Given the description of an element on the screen output the (x, y) to click on. 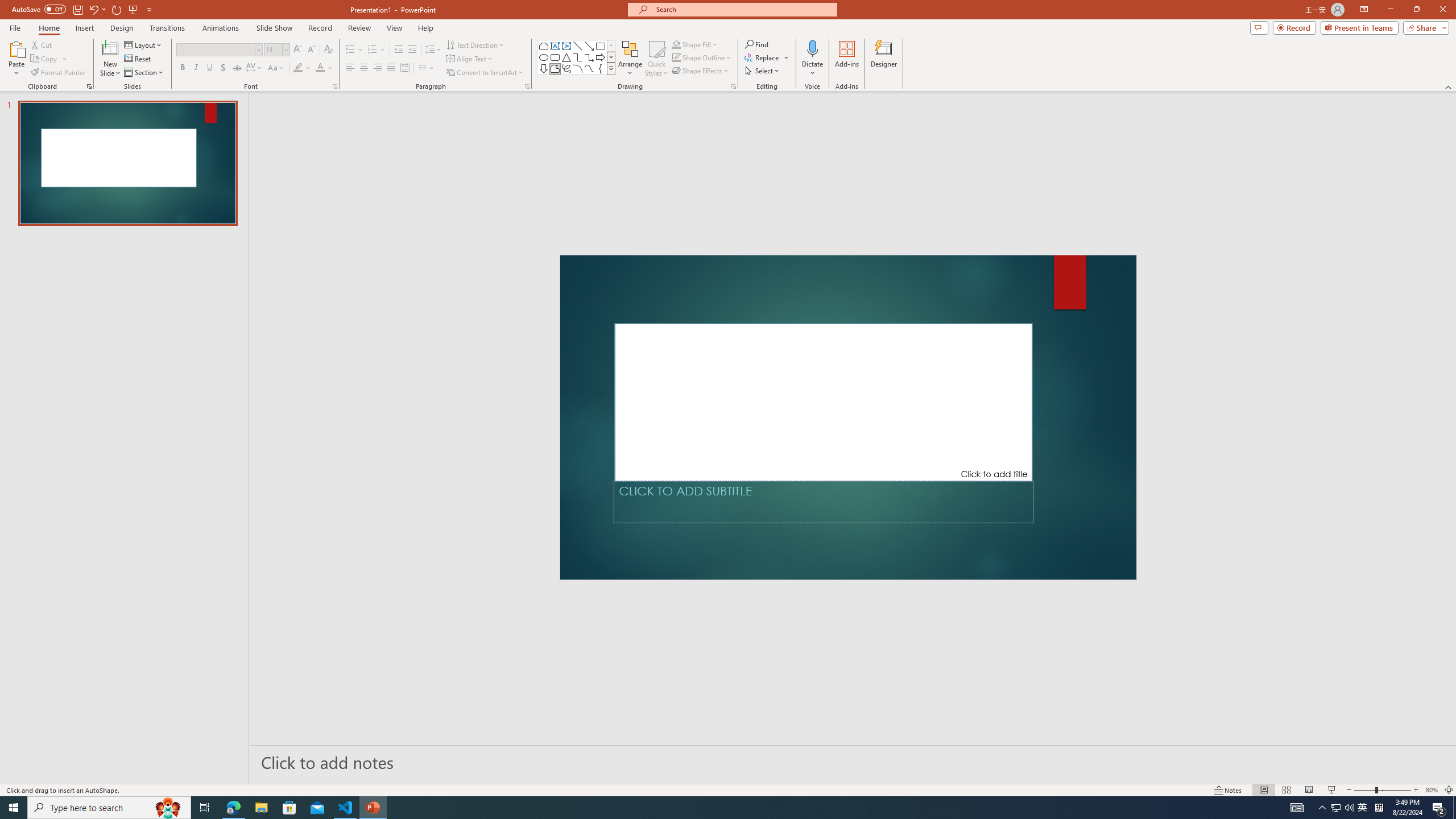
Shape Fill Orange, Accent 2 (675, 44)
Title TextBox (823, 401)
Shape Outline (701, 56)
Subtitle TextBox (822, 501)
